Given the description of an element on the screen output the (x, y) to click on. 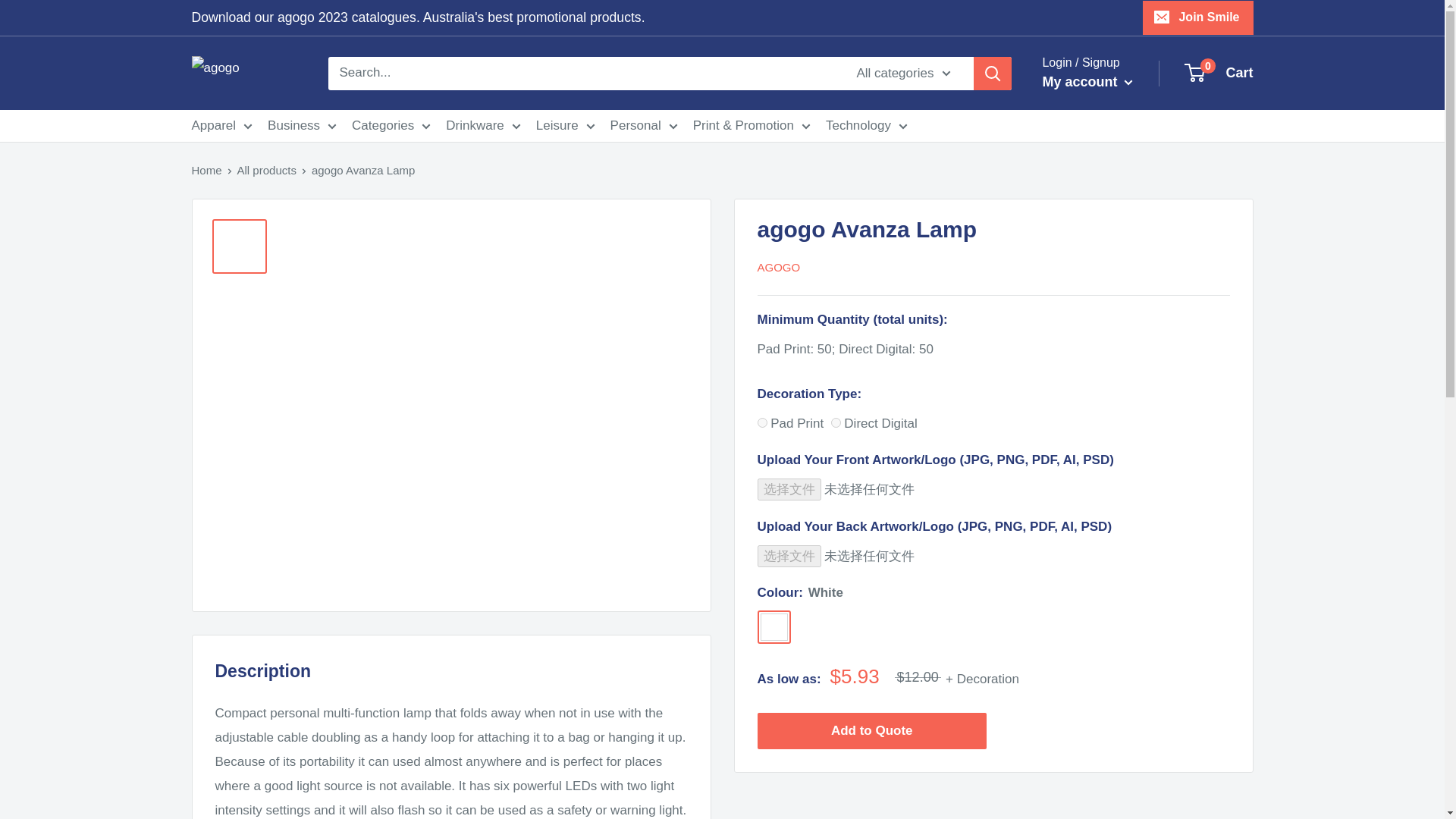
White (773, 626)
Pad Print (762, 422)
Join Smile (1197, 17)
Direct Digital (836, 422)
